Given the description of an element on the screen output the (x, y) to click on. 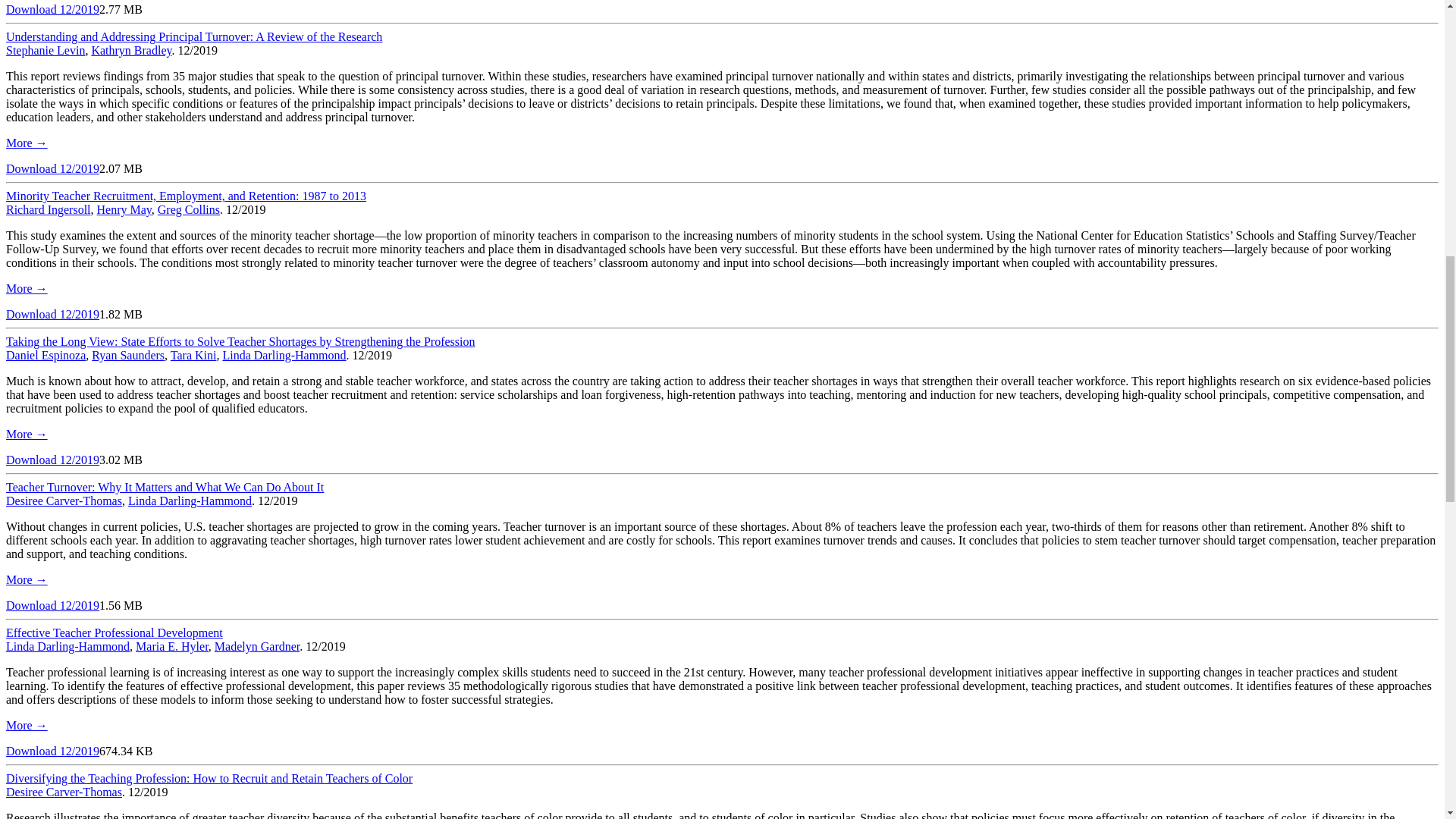
Open file in new window (52, 604)
Open file in new window (52, 168)
Open file in new window (52, 459)
Open file in new window (52, 750)
Open file in new window (52, 9)
Stephanie Levin (44, 50)
Open file in new window (52, 314)
